Given the description of an element on the screen output the (x, y) to click on. 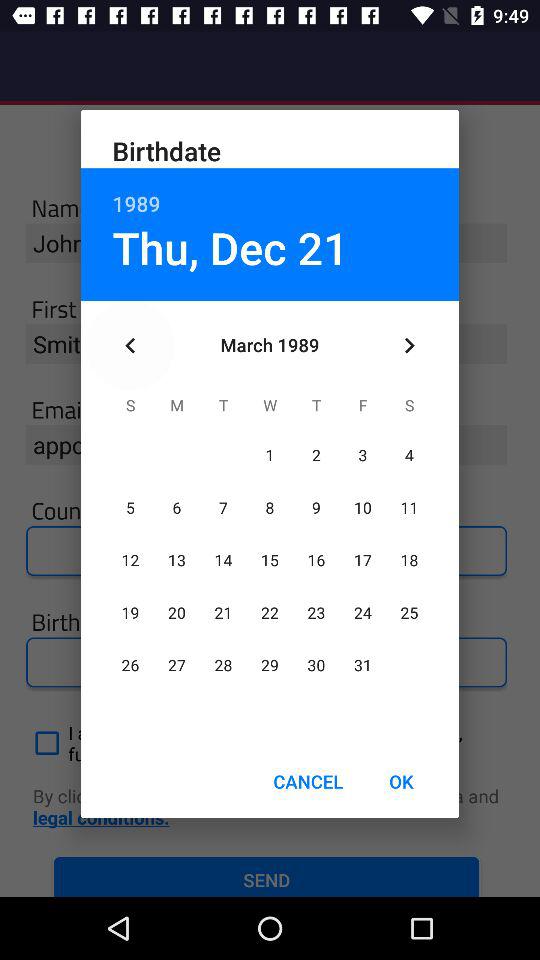
open the item at the bottom (308, 781)
